Given the description of an element on the screen output the (x, y) to click on. 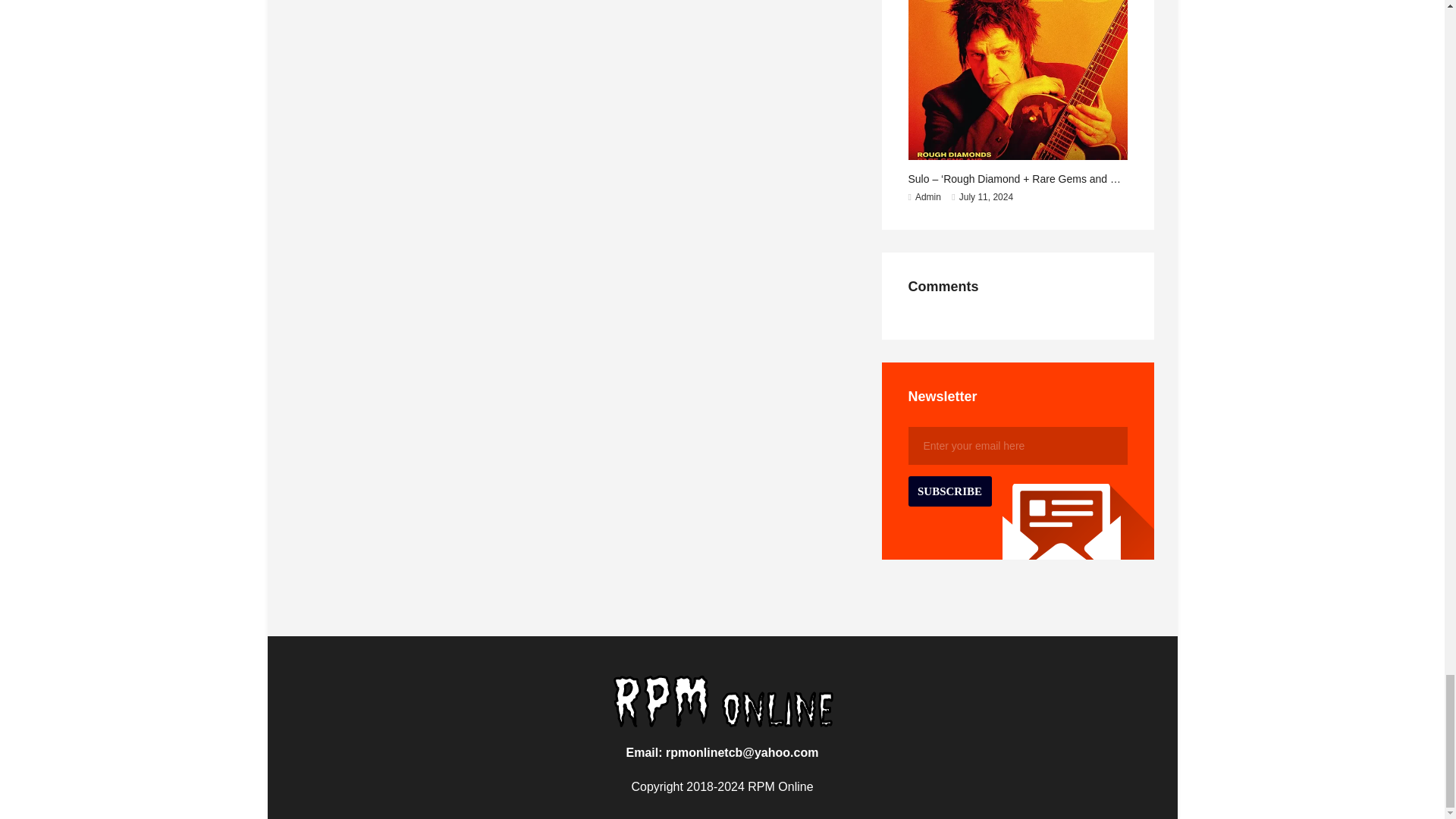
Subscribe (949, 490)
